Given the description of an element on the screen output the (x, y) to click on. 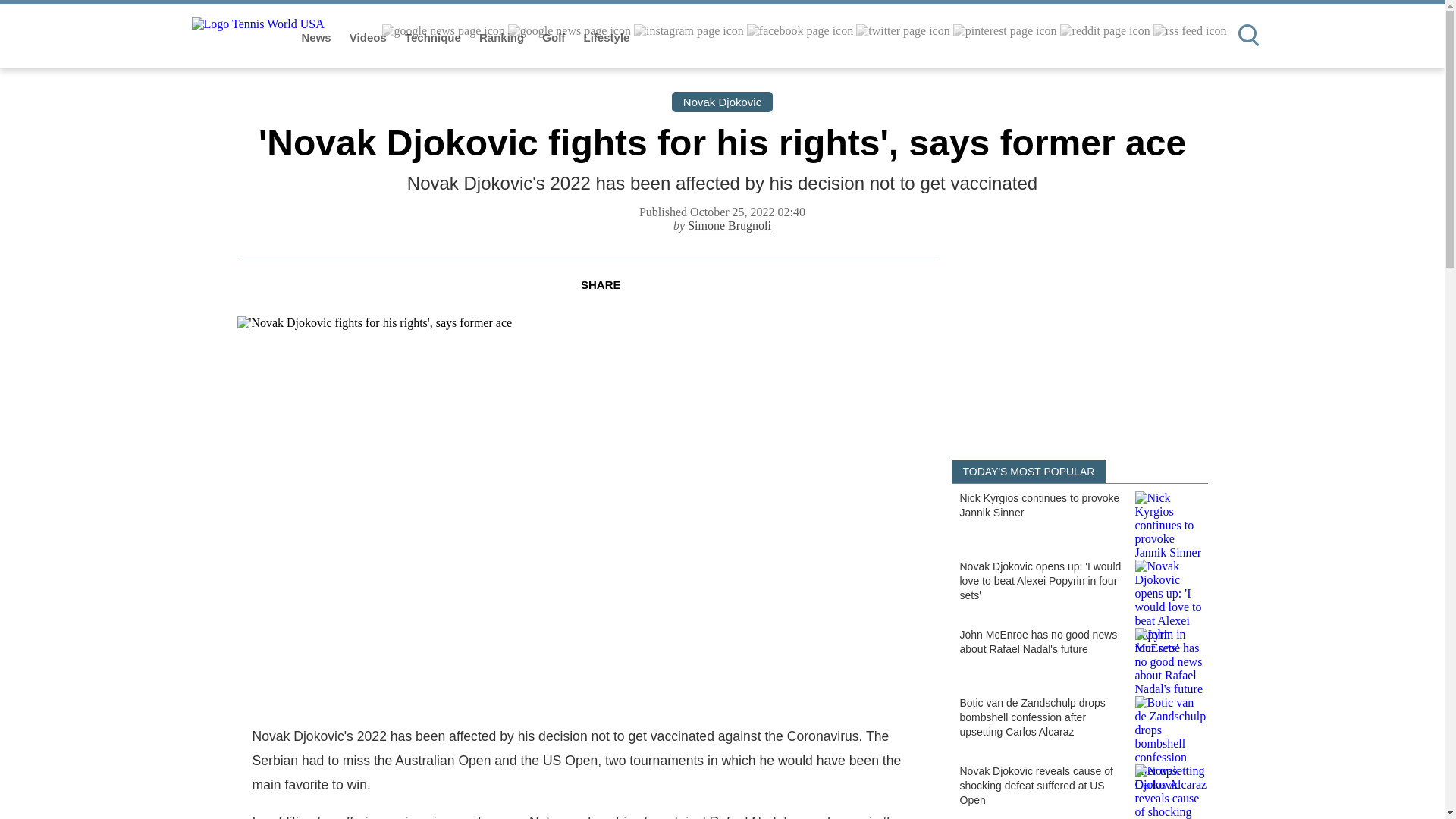
Golf (554, 37)
Ranking (503, 37)
Technique (434, 37)
News (317, 37)
Lifestyle (606, 37)
Videos (369, 37)
